Given the description of an element on the screen output the (x, y) to click on. 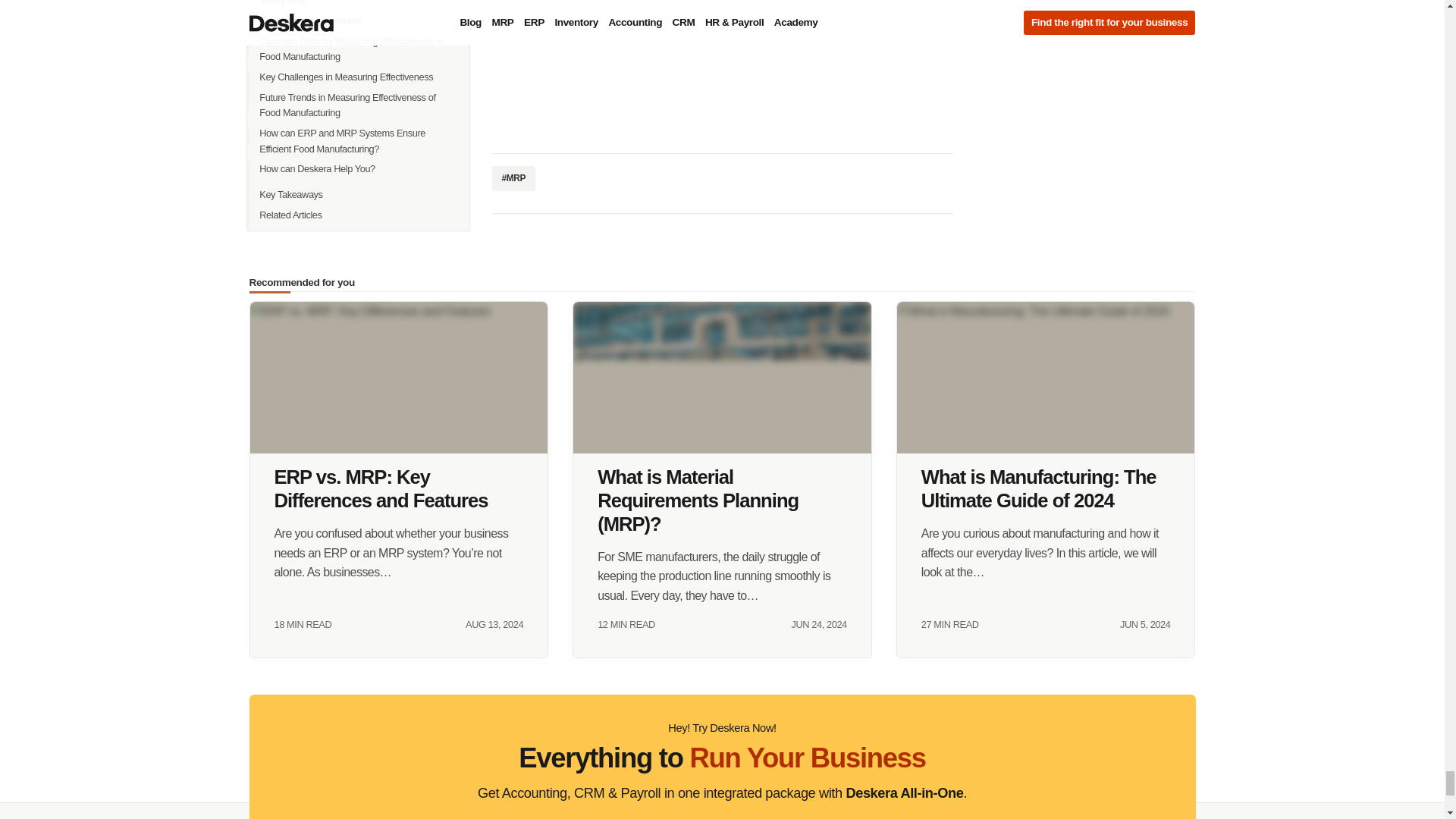
What is Manufacturing: The Ultimate Guide of 2024 (1045, 377)
MRP (513, 178)
ERP vs. MRP: Key Differences and Features (399, 377)
